Given the description of an element on the screen output the (x, y) to click on. 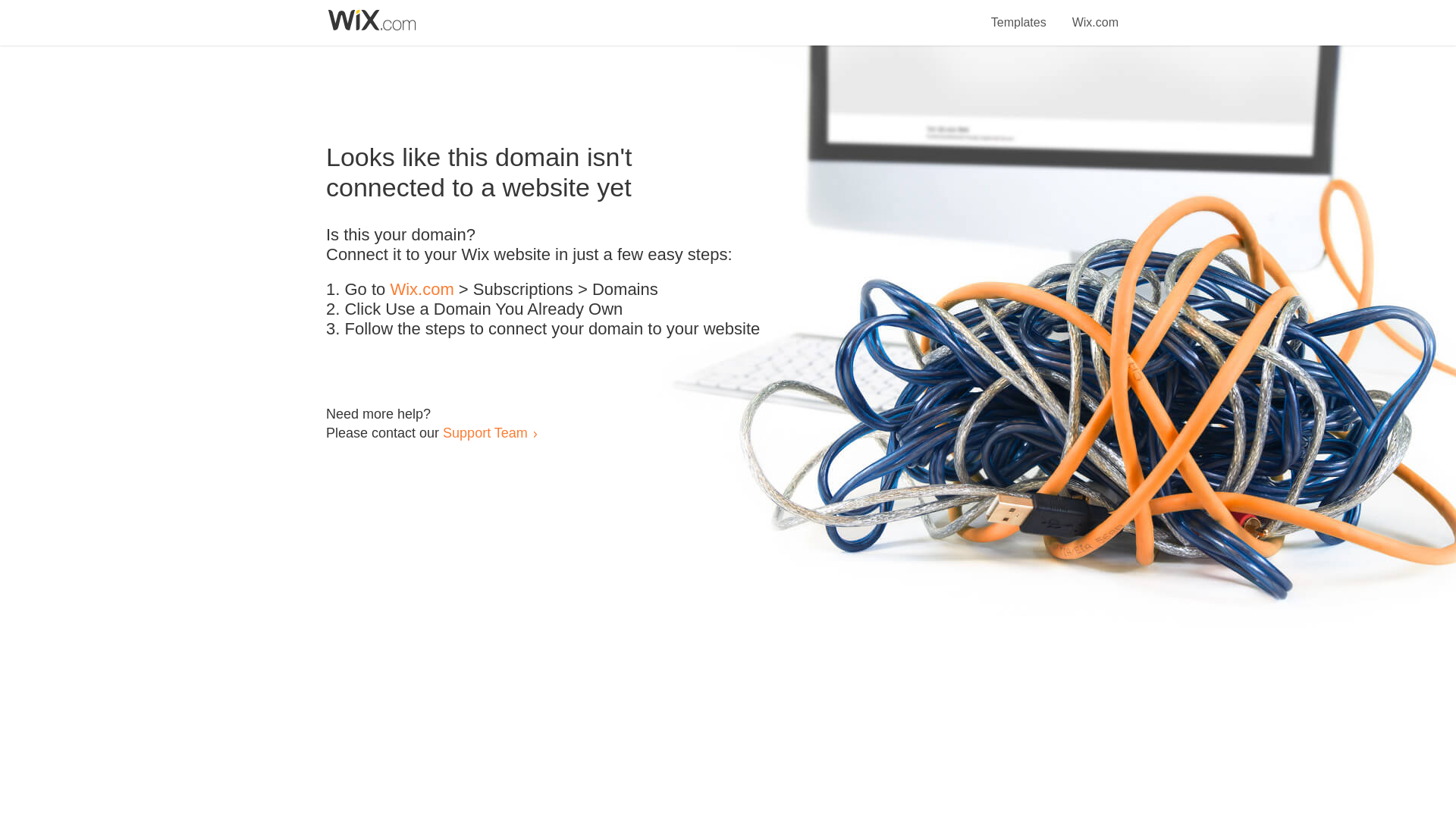
Support Team (484, 432)
Templates (1018, 14)
Wix.com (1095, 14)
Wix.com (421, 289)
